Given the description of an element on the screen output the (x, y) to click on. 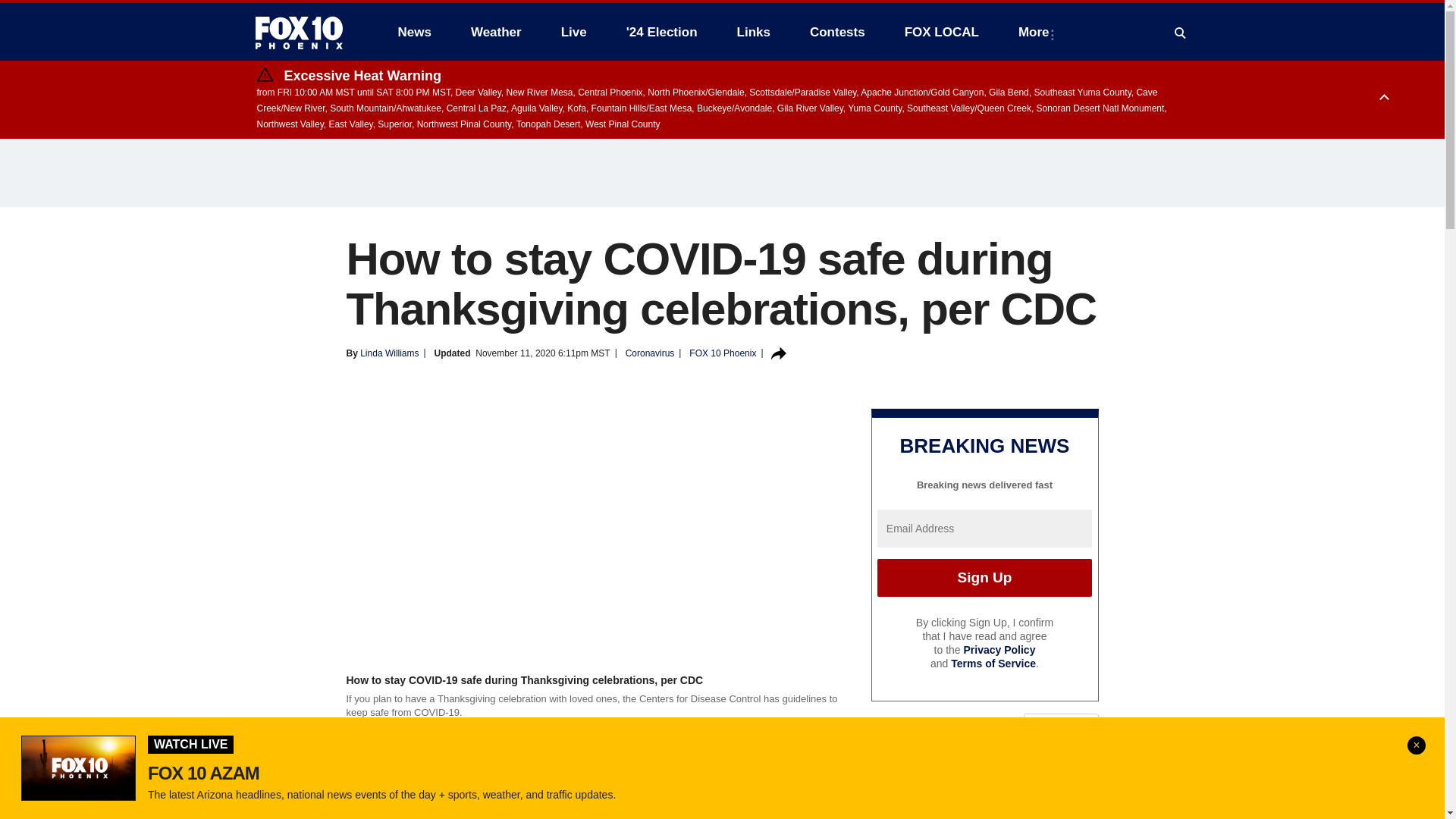
More (1036, 32)
Links (754, 32)
Sign Up (984, 577)
Weather (496, 32)
News (413, 32)
'24 Election (662, 32)
Contests (837, 32)
FOX LOCAL (941, 32)
Live (573, 32)
